Given the description of an element on the screen output the (x, y) to click on. 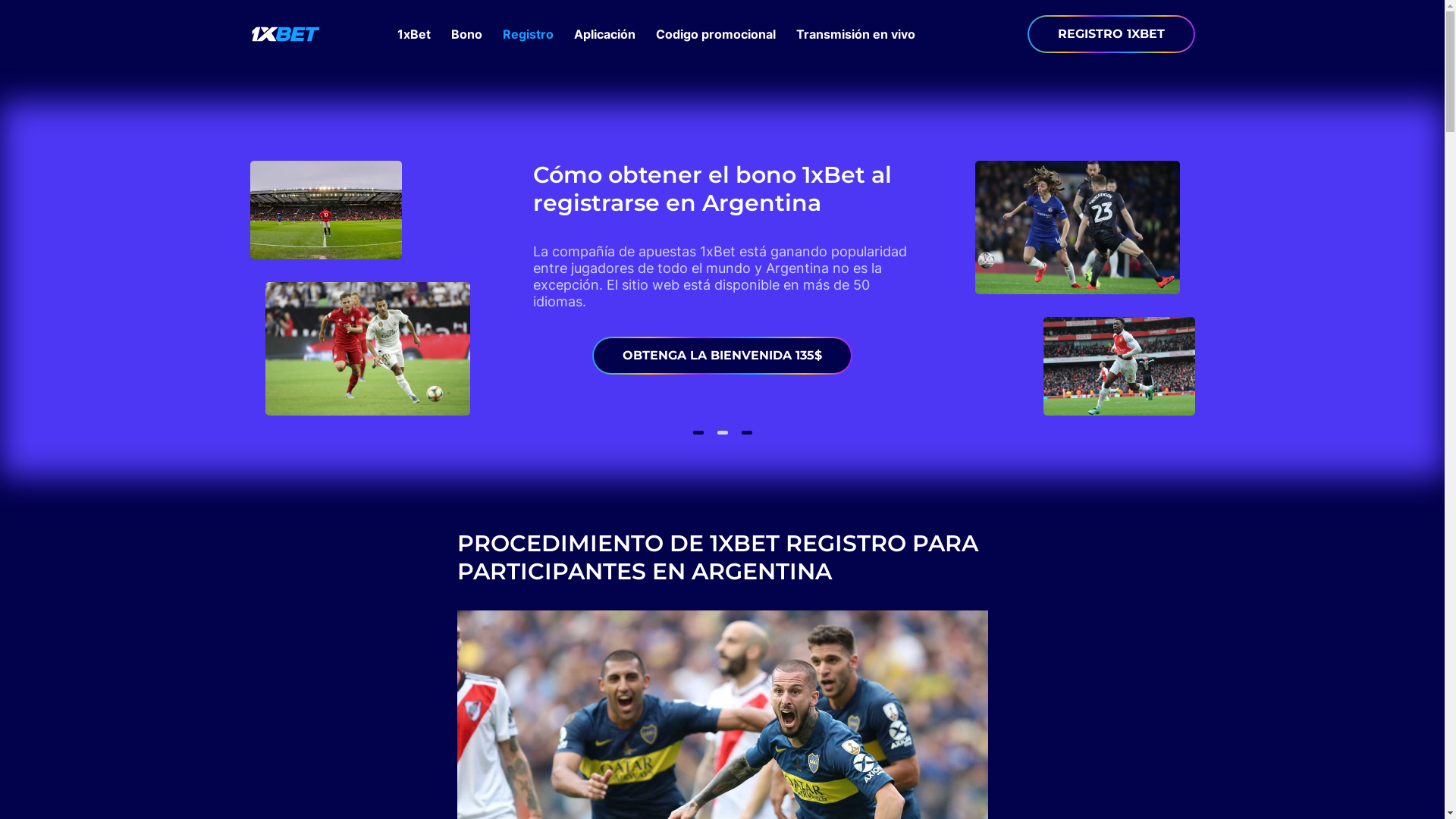
Codigo promocional Element type: text (715, 33)
OBTENGA LA BIENVENIDA 135$ Element type: text (722, 355)
REGISTRO 1XBET Element type: text (1110, 34)
Registro Element type: text (527, 33)
Bono Element type: text (465, 33)
1xBet Element type: text (413, 33)
